Given the description of an element on the screen output the (x, y) to click on. 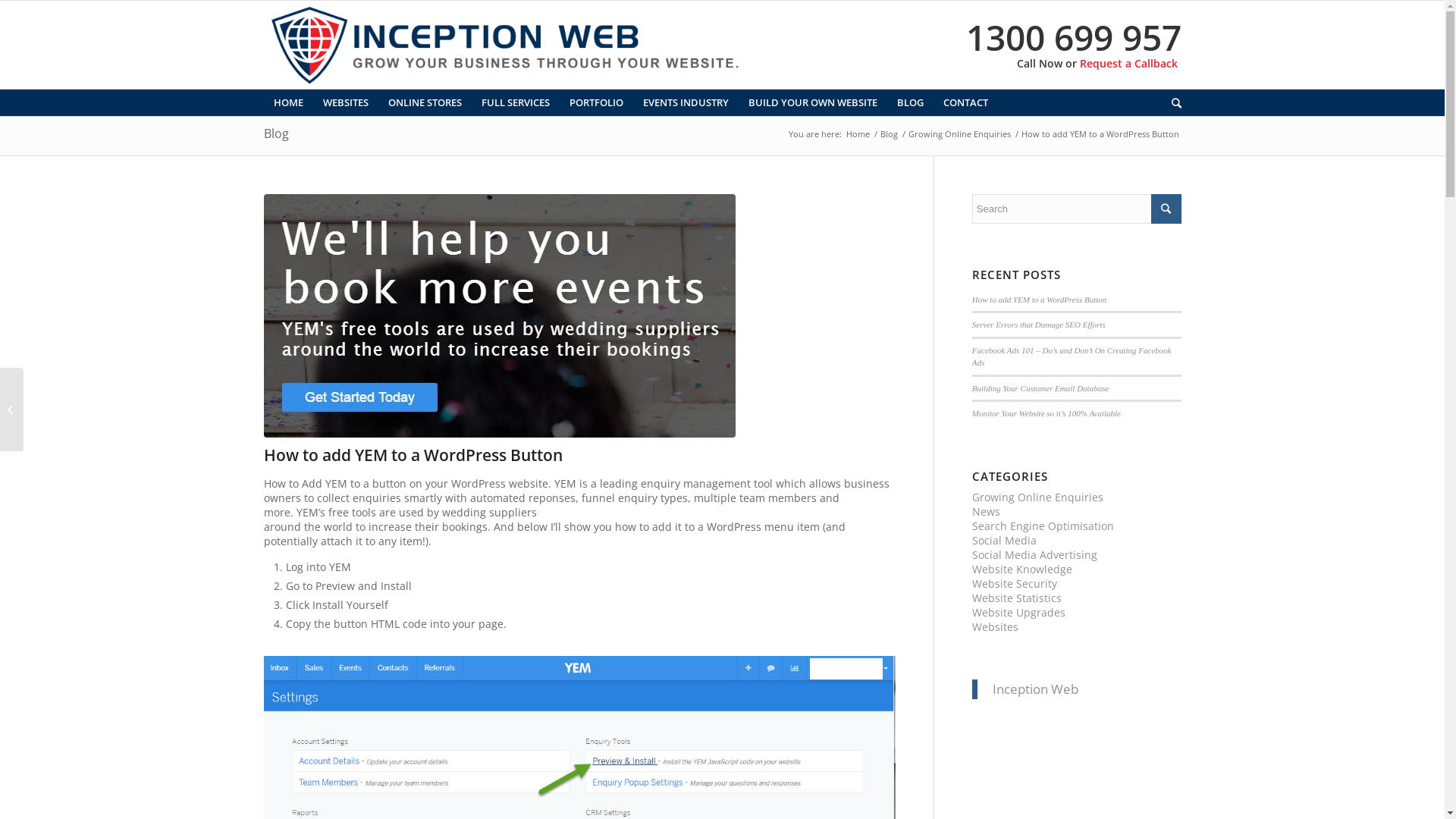
ONLINE STORES Element type: text (423, 102)
Website Upgrades Element type: text (1018, 612)
How to add YEM to a WordPress Button Element type: text (1039, 299)
How to add YEM to a WordPress Button Element type: text (412, 454)
Blog Element type: text (275, 133)
How to add YEM to a WordPress Button Element type: hover (579, 315)
Home Element type: text (857, 133)
Website Security Element type: text (1014, 583)
Websites Element type: text (995, 626)
BLOG Element type: text (910, 102)
Inception Web Element type: text (1035, 688)
Social Media Element type: text (1004, 540)
Social Media Advertising Element type: text (1034, 554)
Search Engine Optimisation Element type: text (1042, 525)
WEBSITES Element type: text (344, 102)
Website Knowledge Element type: text (1022, 568)
1300 699 957 Element type: text (1073, 36)
BUILD YOUR OWN WEBSITE Element type: text (812, 102)
FULL SERVICES Element type: text (515, 102)
EVENTS INDUSTRY Element type: text (684, 102)
Growing Online Enquiries Element type: text (1037, 496)
CONTACT Element type: text (964, 102)
Blog Element type: text (889, 133)
HOME Element type: text (288, 102)
Server Errors that Damage SEO Efforts Element type: text (1038, 324)
Website Statistics Element type: text (1016, 597)
Building Your Customer Email Database Element type: text (1040, 387)
Growing Online Enquiries Element type: text (958, 133)
PORTFOLIO Element type: text (596, 102)
News Element type: text (986, 511)
Request a Callback Element type: text (1128, 63)
